Given the description of an element on the screen output the (x, y) to click on. 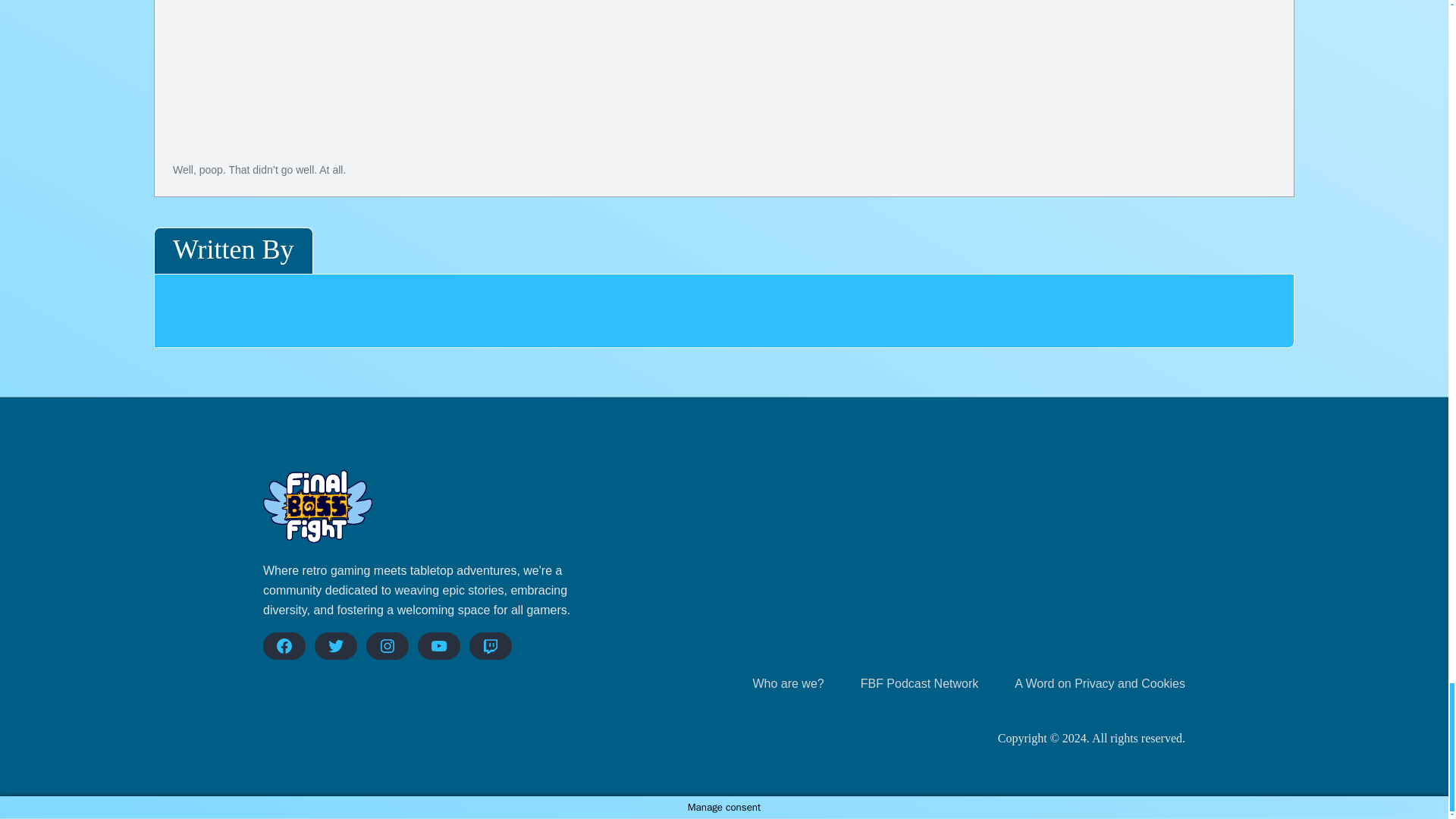
Facebook (284, 646)
Instagram (387, 646)
YouTube (438, 646)
Twitter (335, 646)
